Given the description of an element on the screen output the (x, y) to click on. 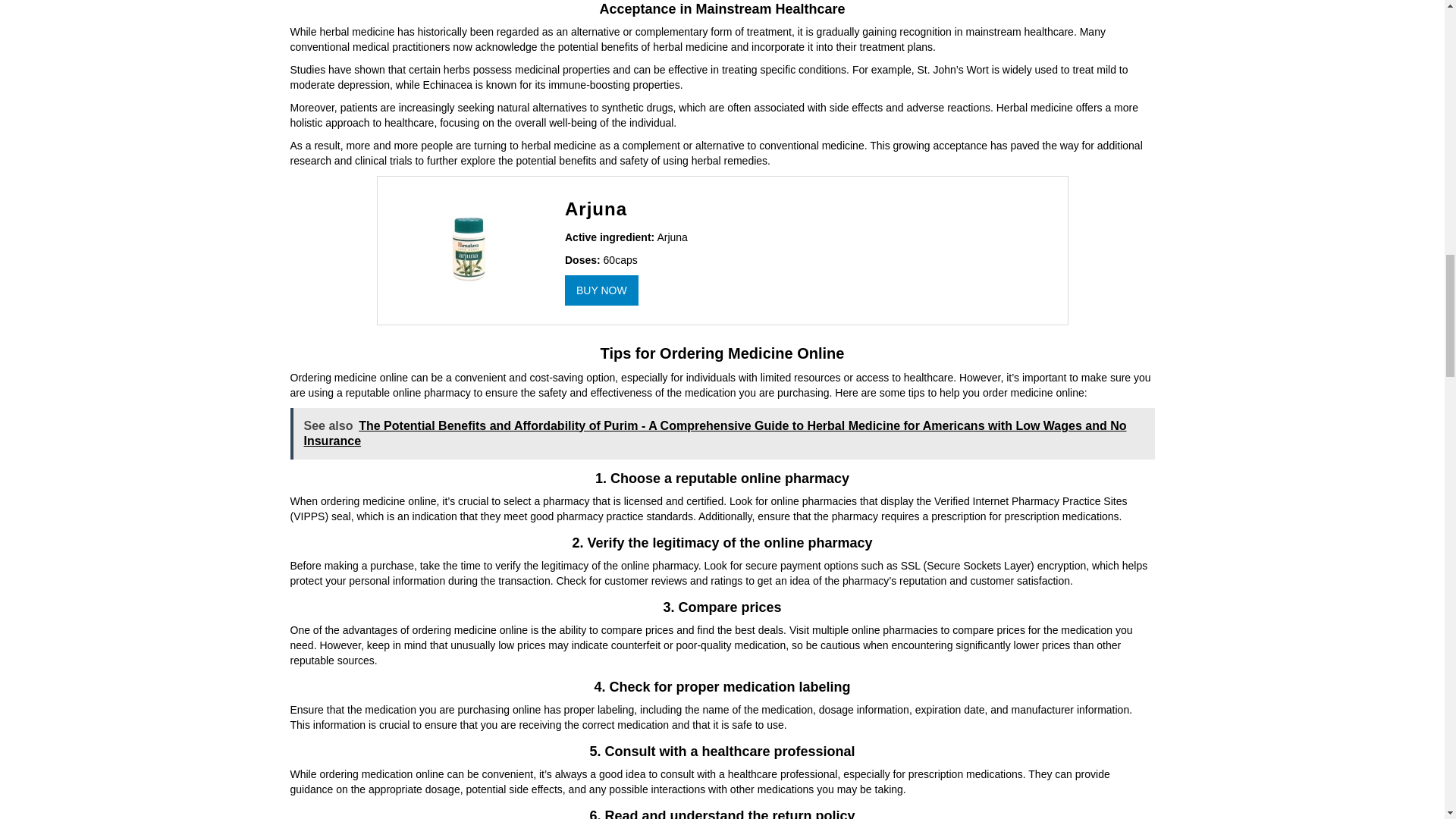
Buy Now (601, 289)
BUY NOW (601, 289)
